Given the description of an element on the screen output the (x, y) to click on. 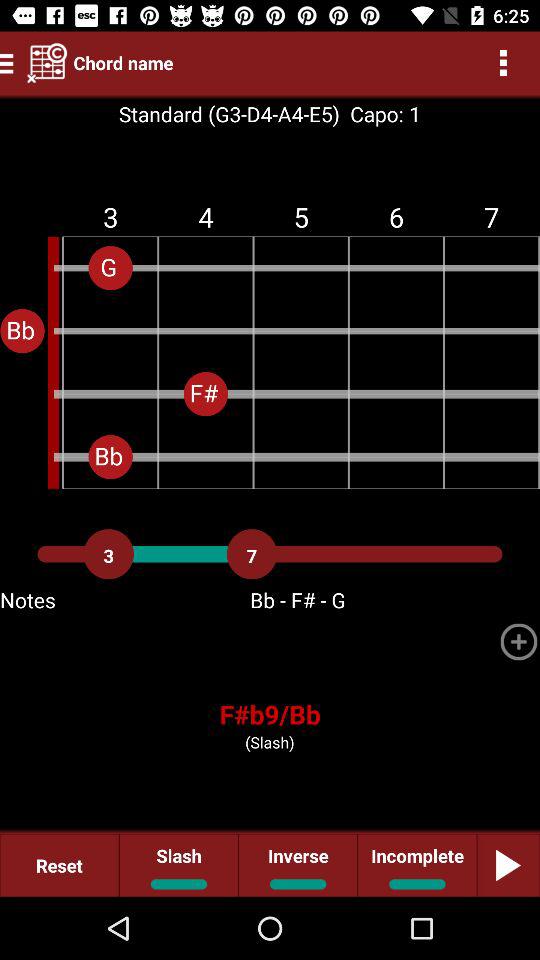
turn off the item to the left of incomplete item (297, 864)
